Given the description of an element on the screen output the (x, y) to click on. 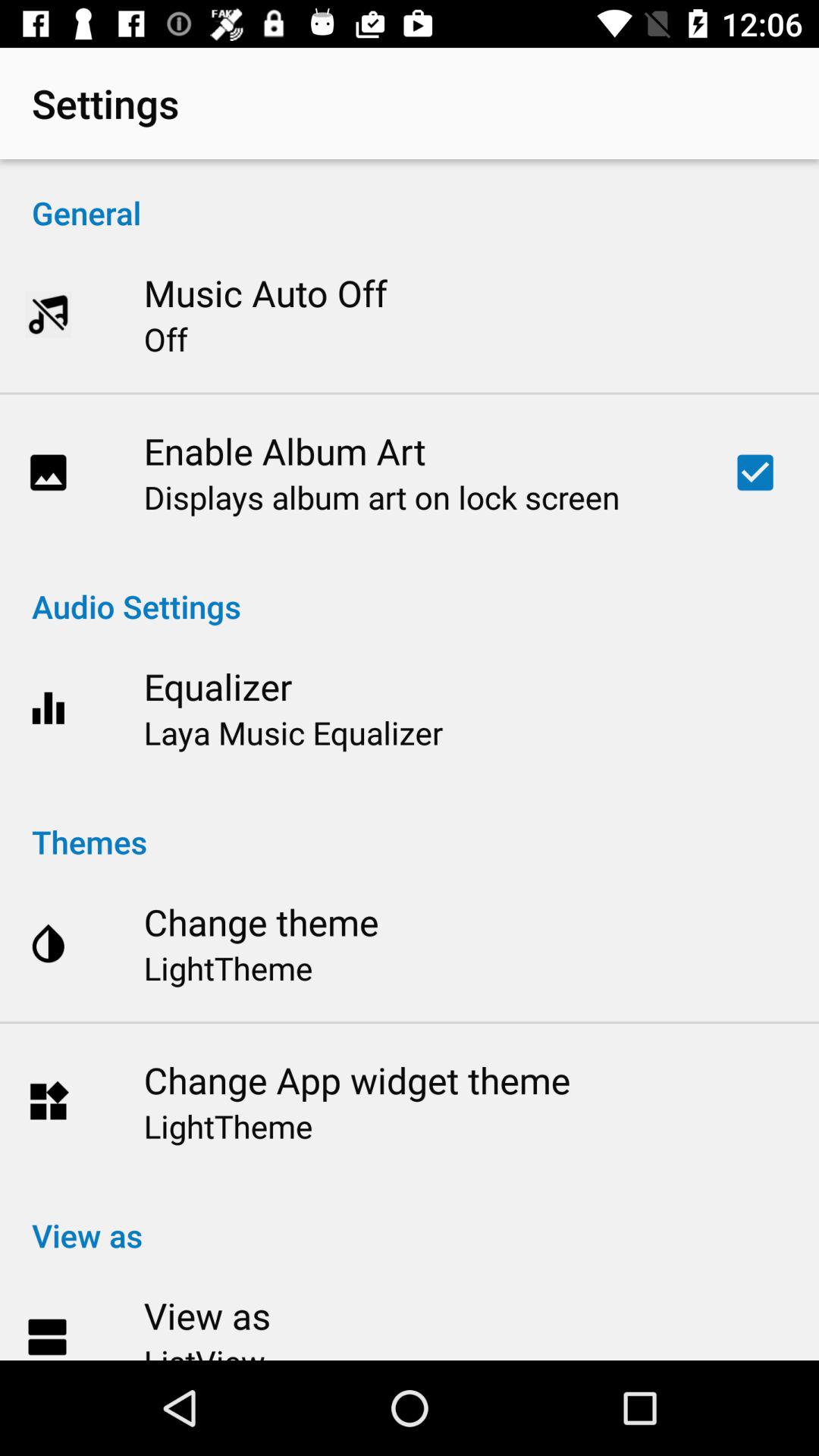
turn off the change app widget (356, 1079)
